Given the description of an element on the screen output the (x, y) to click on. 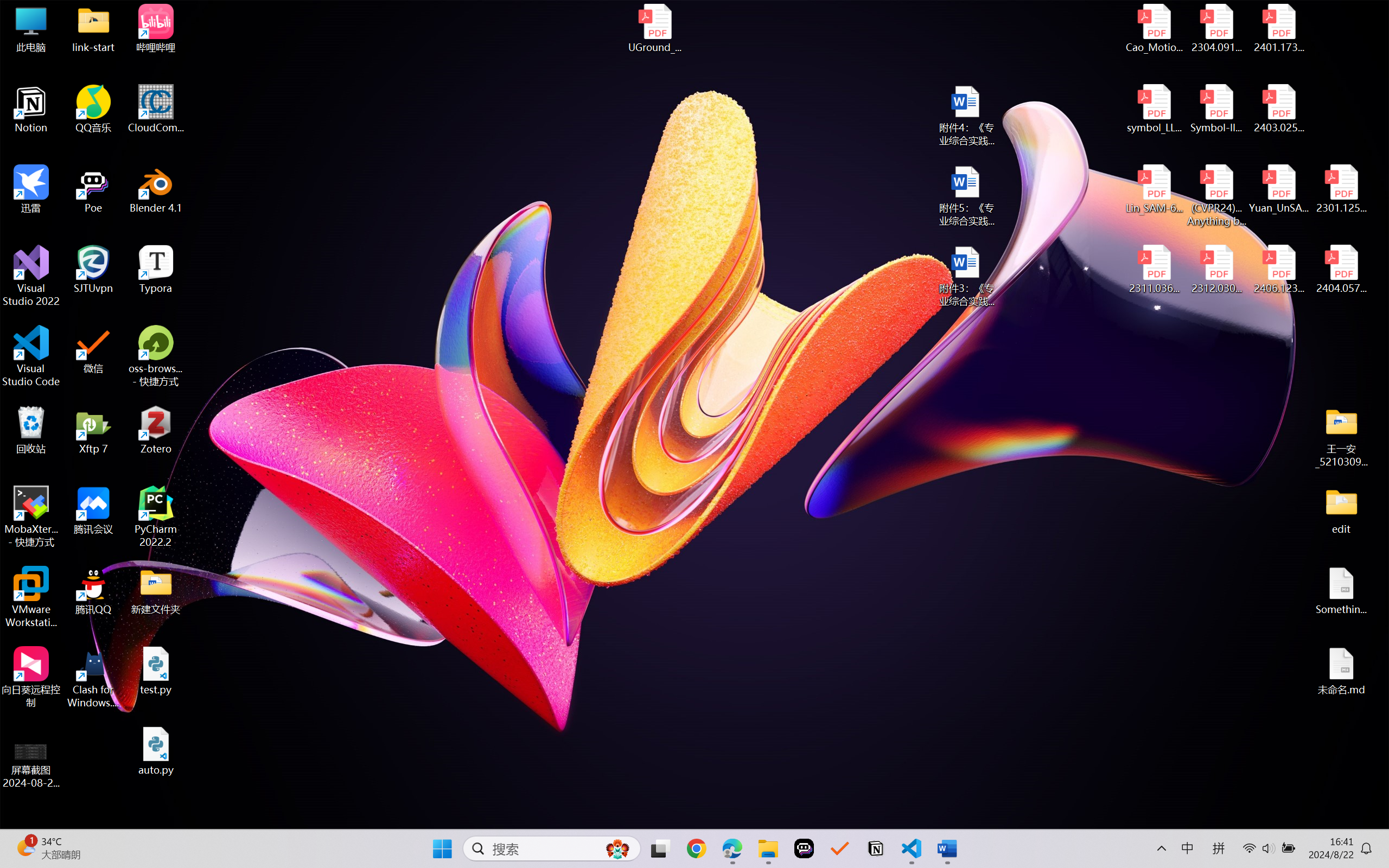
2301.12597v3.pdf (1340, 189)
Poe (93, 189)
Blender 4.1 (156, 189)
2311.03658v2.pdf (1154, 269)
test.py (156, 670)
2406.12373v2.pdf (1278, 269)
Visual Studio 2022 (31, 276)
Symbol-llm-v2.pdf (1216, 109)
Typora (156, 269)
